Given the description of an element on the screen output the (x, y) to click on. 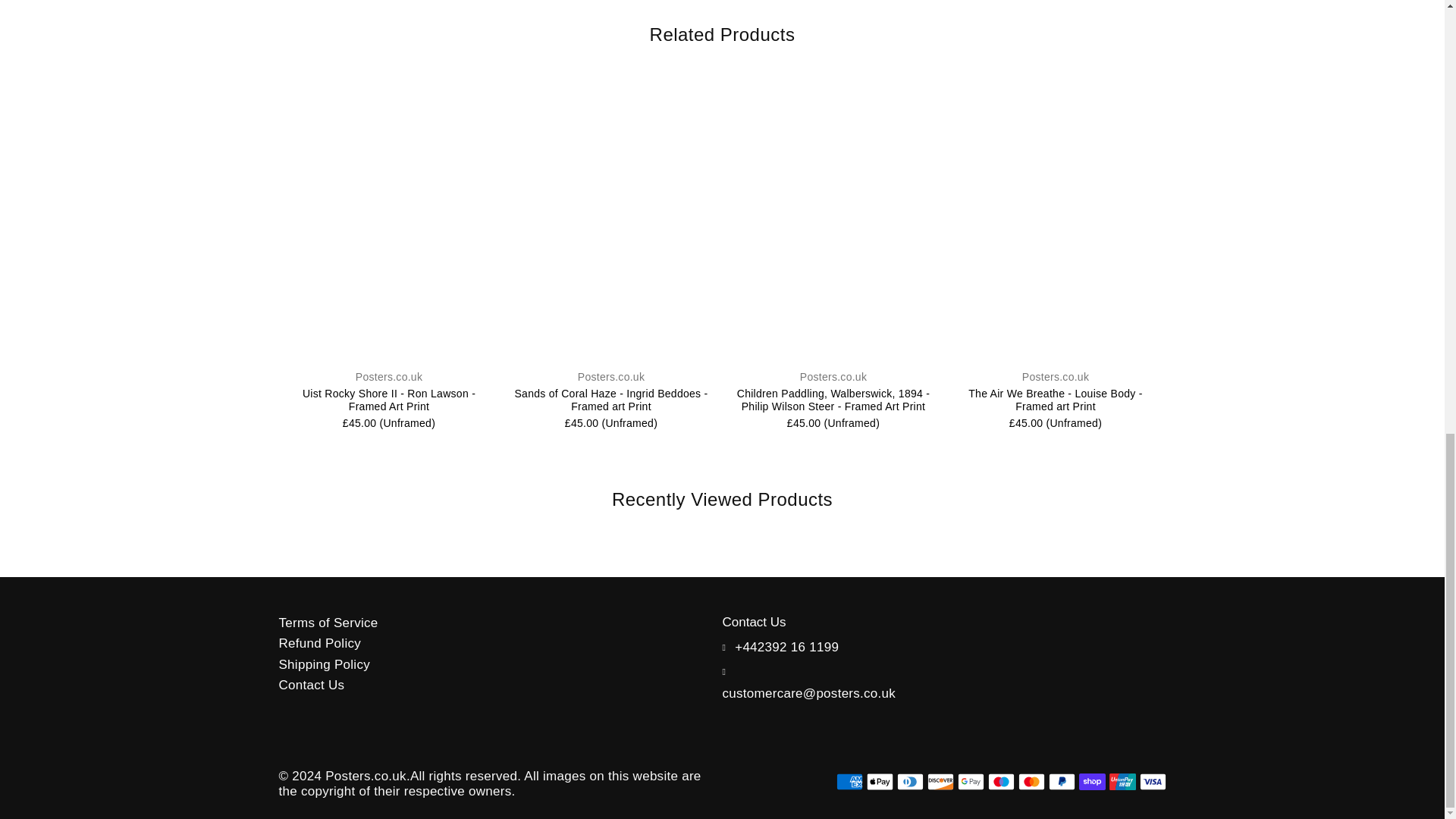
Google Pay (970, 782)
Discover (939, 782)
American Express (848, 782)
Maestro (1000, 782)
PayPal (1061, 782)
Shop Pay (1091, 782)
Union Pay (1121, 782)
Visa (1152, 782)
Mastercard (1030, 782)
Apple Pay (879, 782)
Diners Club (909, 782)
